Given the description of an element on the screen output the (x, y) to click on. 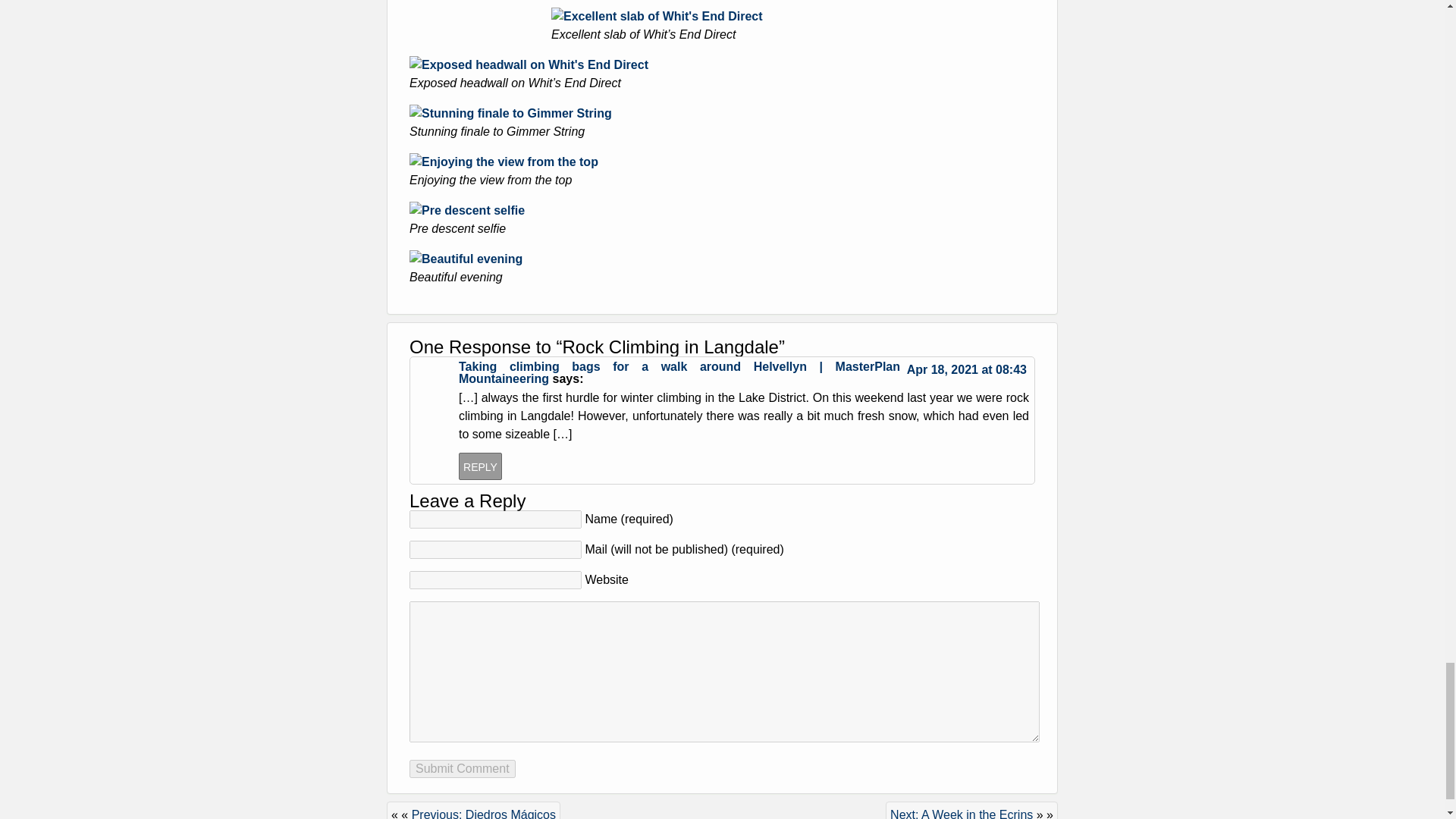
Exposed headwall on Whit's End Direct (528, 64)
Enjoying the view from the top (503, 161)
Stunning finale to Gimmer String (510, 113)
Beautiful evening (465, 258)
Pre descent selfie (466, 210)
Excellent slab of Whit's End Direct (656, 15)
Submit Comment (462, 769)
